Given the description of an element on the screen output the (x, y) to click on. 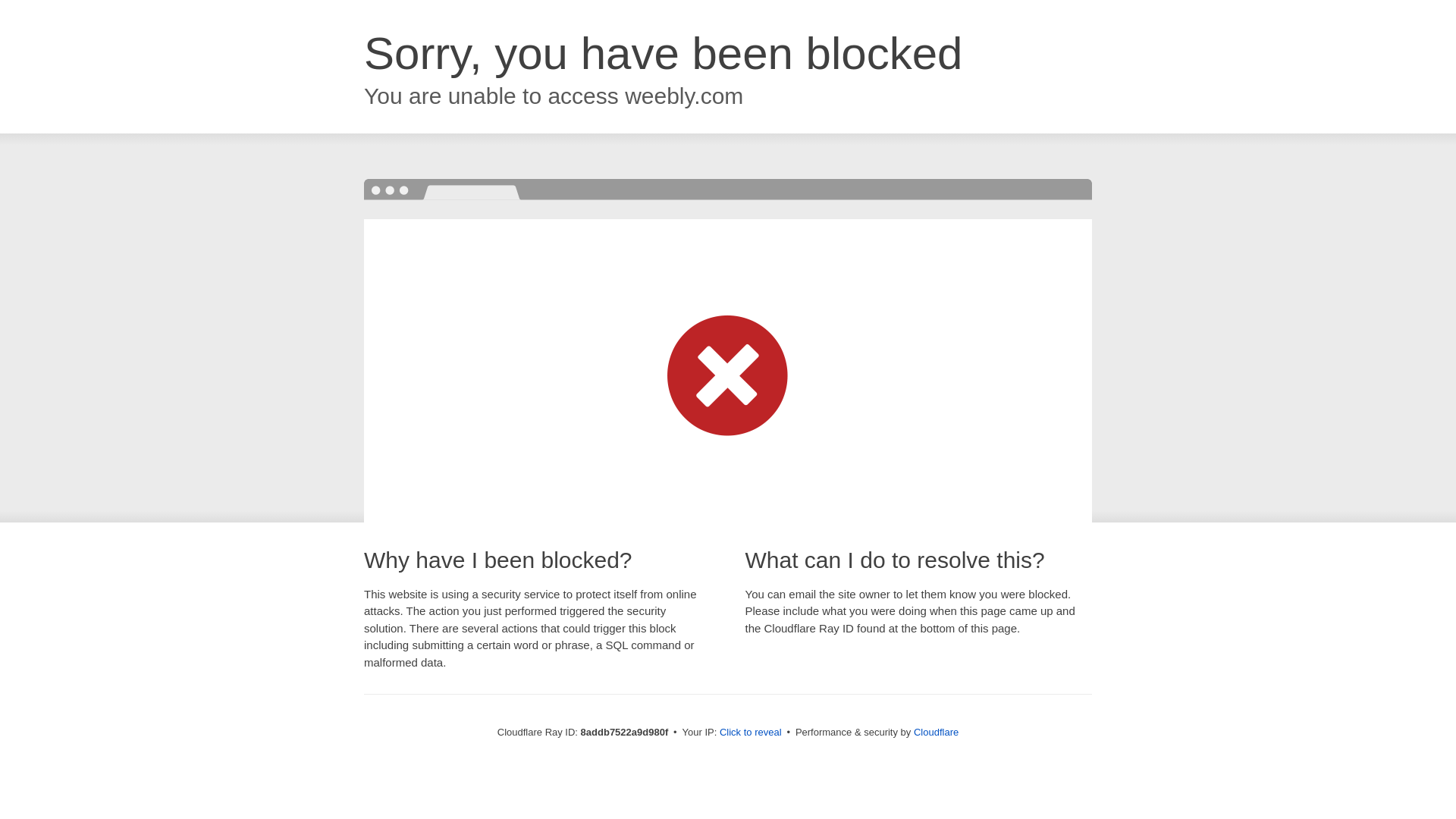
Click to reveal (750, 732)
Cloudflare (936, 731)
